Given the description of an element on the screen output the (x, y) to click on. 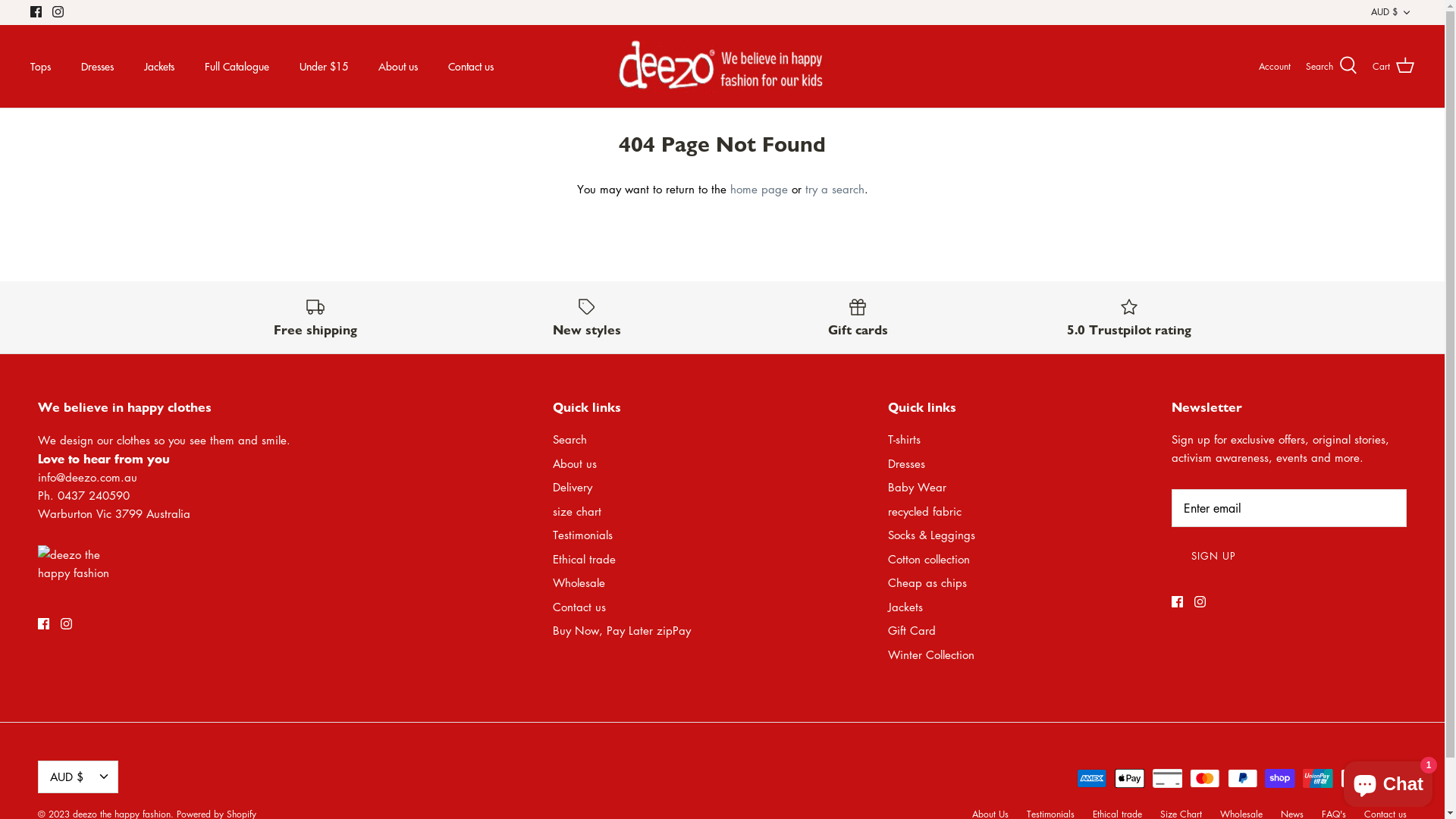
T-shirts Element type: text (904, 438)
Search Element type: text (1331, 65)
Cart Element type: text (1393, 65)
Winter Collection Element type: text (931, 654)
Socks & Leggings Element type: text (931, 534)
try a search Element type: text (834, 188)
Facebook Element type: text (1177, 601)
Under $15 Element type: text (323, 66)
Dresses Element type: text (97, 66)
Buy Now, Pay Later zipPay Element type: text (621, 629)
Wholesale Element type: text (578, 581)
Shopify online store chat Element type: hover (1388, 780)
Instagram Element type: text (1199, 601)
recycled fabric Element type: text (924, 510)
Ethical trade Element type: text (583, 558)
About us Element type: text (574, 462)
size chart Element type: text (576, 510)
Instagram Element type: text (57, 11)
Facebook Element type: text (43, 623)
home page Element type: text (758, 188)
Testimonials Element type: text (582, 534)
Contact us Element type: text (470, 66)
info@deezo.com.au Element type: text (87, 476)
Gift Card Element type: text (911, 629)
Instagram Element type: text (66, 623)
Search Element type: text (569, 438)
deezo the happy fashion Element type: hover (721, 66)
Jackets Element type: text (159, 66)
Cheap as chips Element type: text (927, 581)
Full Catalogue Element type: text (236, 66)
Account Element type: text (1274, 66)
Baby Wear Element type: text (917, 486)
About us Element type: text (397, 66)
Dresses Element type: text (906, 462)
AUD $
Down Element type: text (77, 776)
Facebook Element type: text (35, 11)
Tops Element type: text (40, 66)
Delivery Element type: text (572, 486)
Cotton collection Element type: text (928, 558)
AUD $
Down Element type: text (1392, 12)
Jackets Element type: text (905, 606)
SIGN UP Element type: text (1213, 555)
Contact us Element type: text (578, 606)
